Given the description of an element on the screen output the (x, y) to click on. 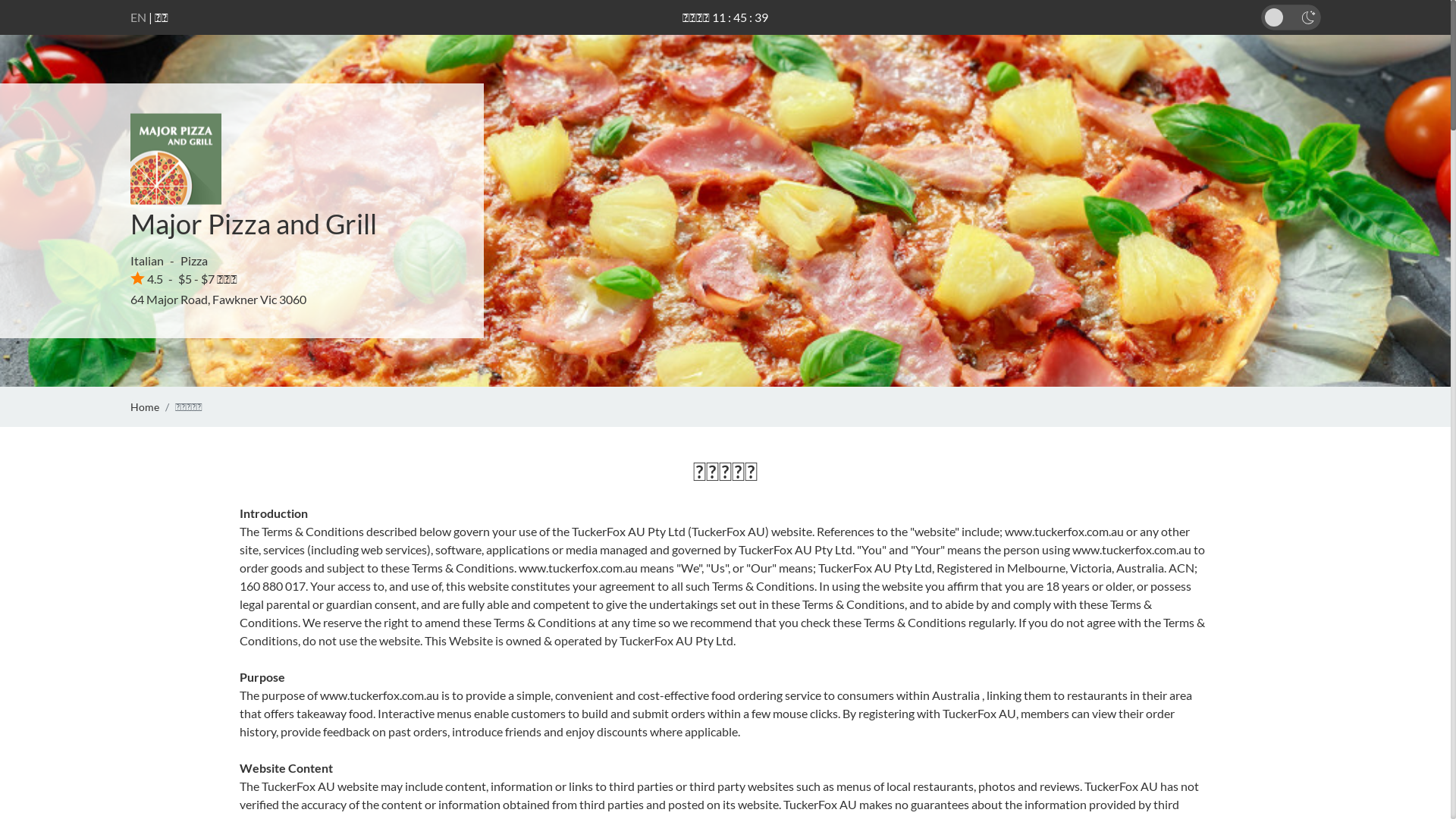
Major Pizza and Grill Element type: text (253, 223)
Home Element type: text (144, 406)
4.5 Element type: text (146, 278)
EN Element type: text (138, 16)
